Given the description of an element on the screen output the (x, y) to click on. 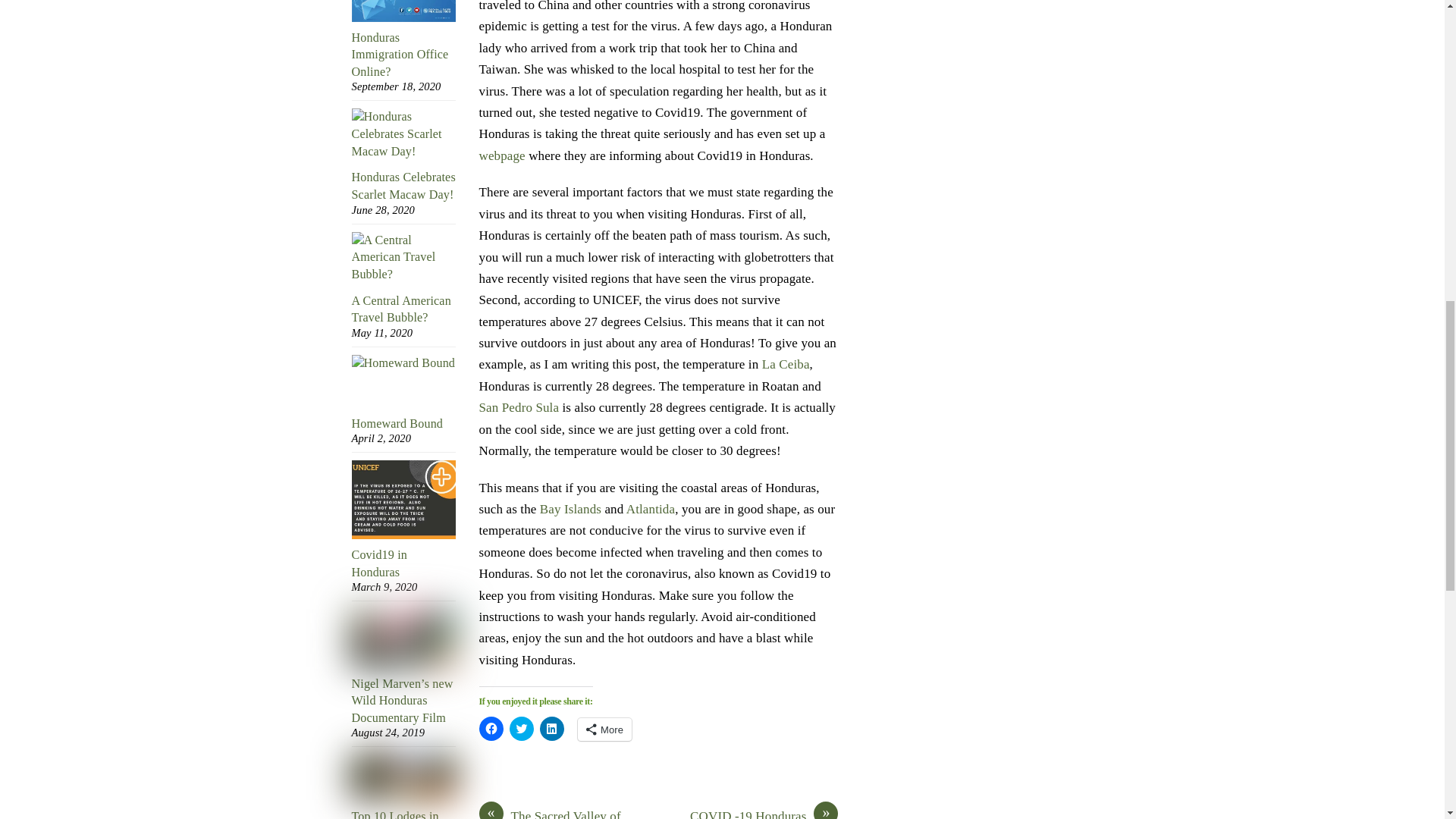
Click to share on Twitter (521, 728)
Click to share on LinkedIn (552, 728)
Click to share on Facebook (491, 728)
